Given the description of an element on the screen output the (x, y) to click on. 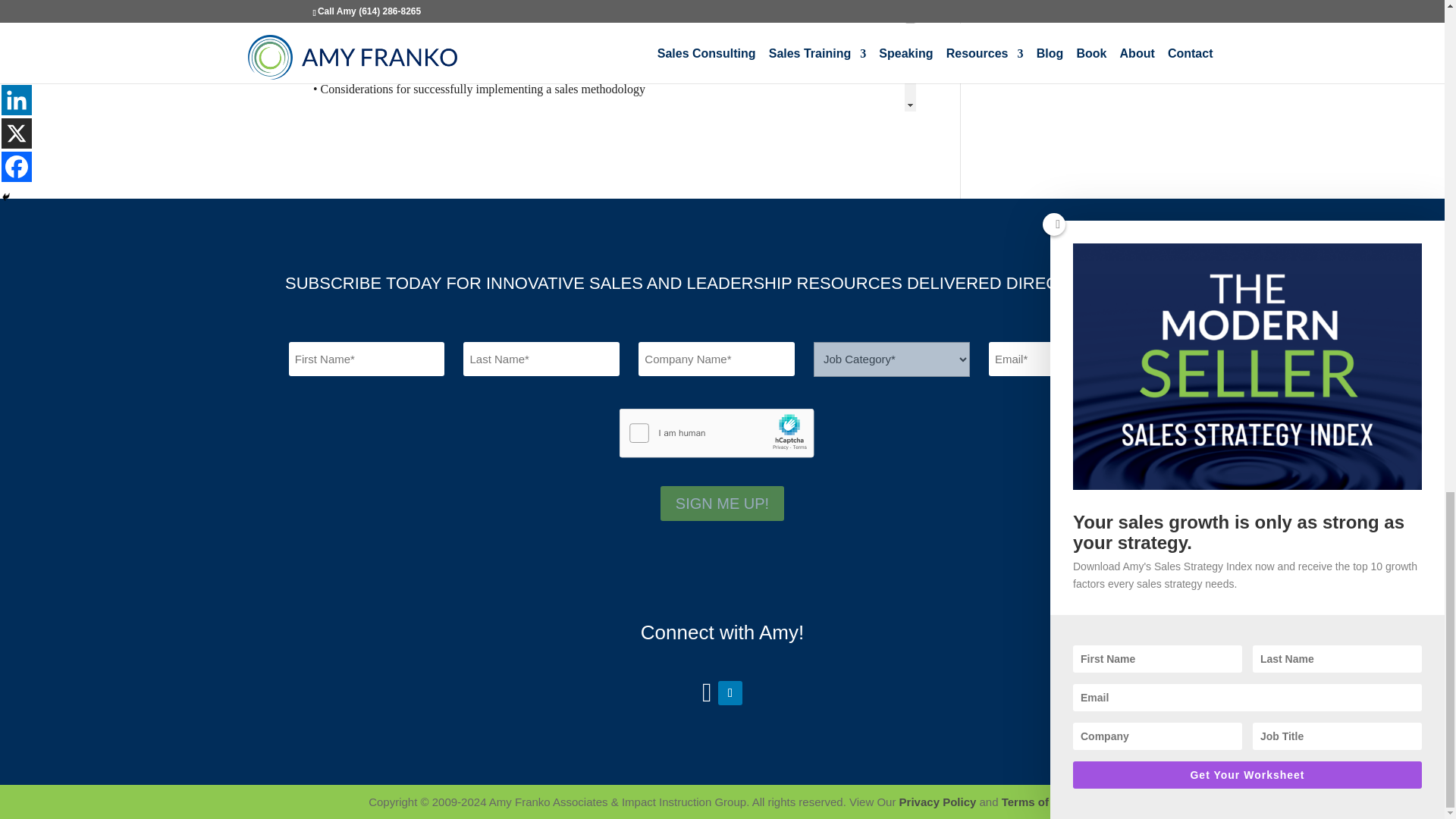
Widget containing checkbox for hCaptcha security challenge (733, 436)
Sign Me Up! (722, 503)
Follow on LinkedIn (729, 692)
